Given the description of an element on the screen output the (x, y) to click on. 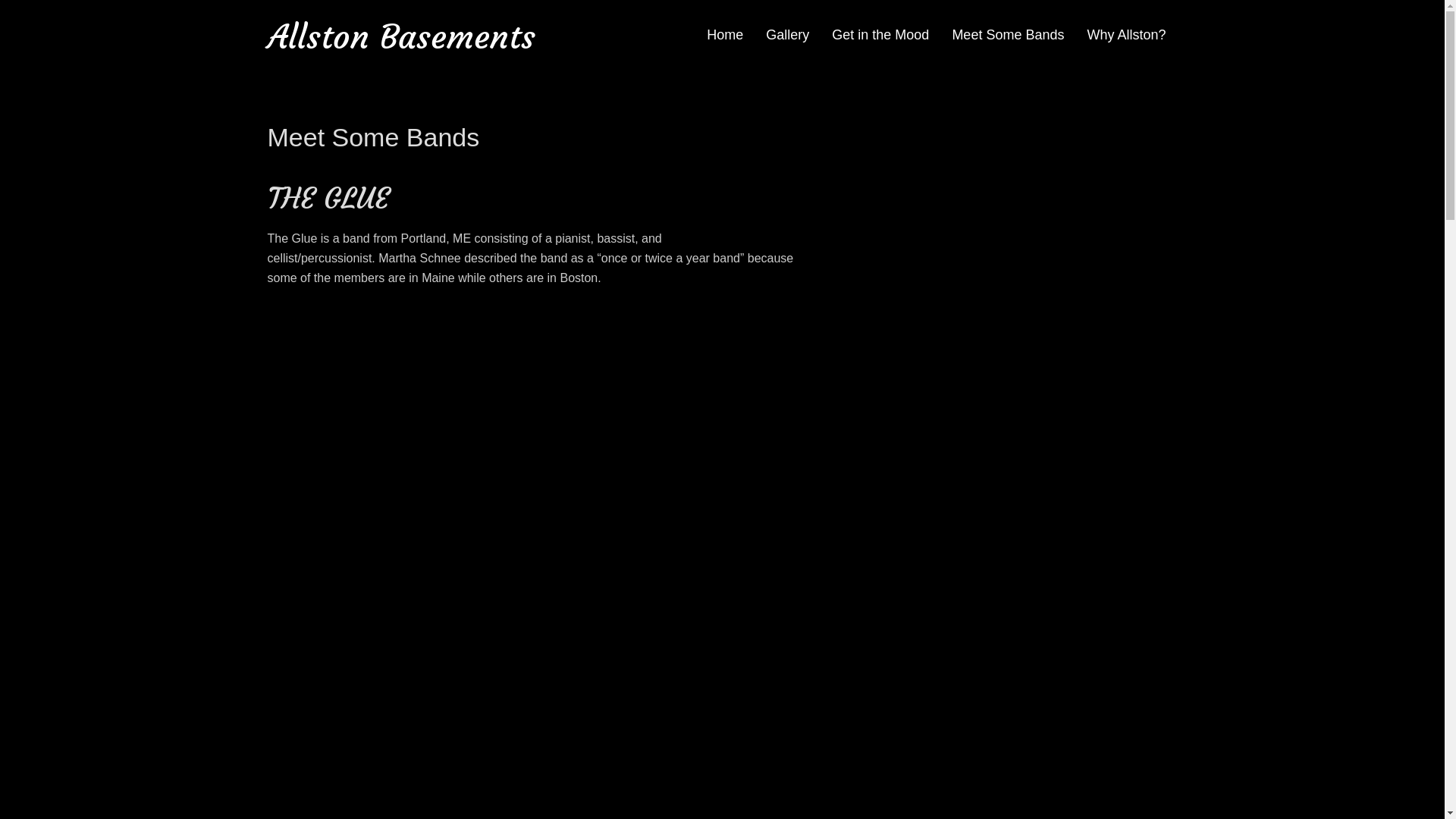
Meet Some Bands Element type: text (1007, 35)
Allston Basements Element type: text (400, 36)
Why Allston? Element type: text (1125, 35)
Gallery Element type: text (787, 35)
Home Element type: text (724, 35)
Get in the Mood Element type: text (880, 35)
